Given the description of an element on the screen output the (x, y) to click on. 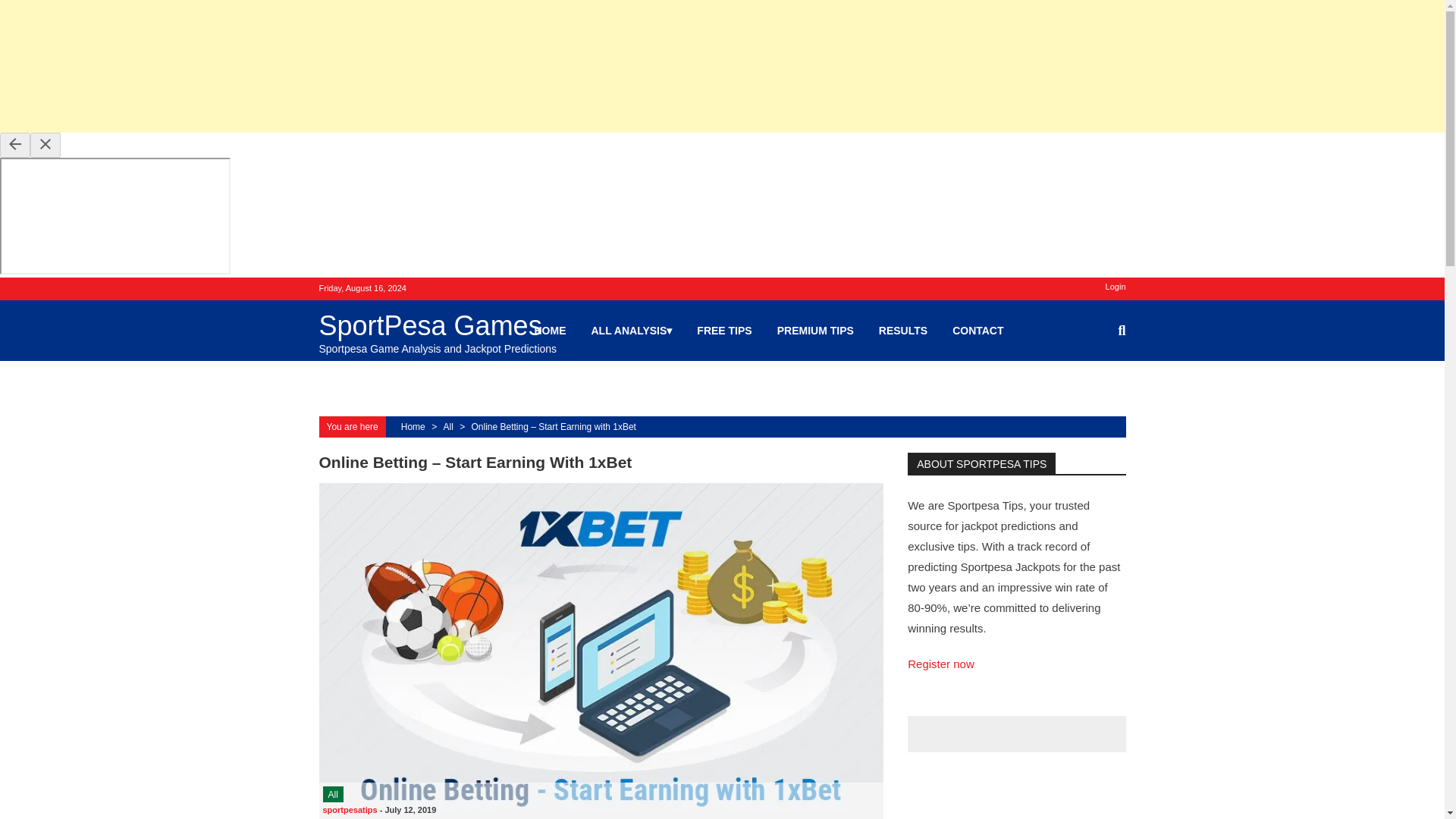
CONTACT (977, 330)
All (447, 426)
Advertisement (455, 66)
HOME (550, 330)
Login (1115, 286)
FREE TIPS (724, 330)
RESULTS (903, 330)
All (333, 794)
sportpesatips (350, 809)
